Given the description of an element on the screen output the (x, y) to click on. 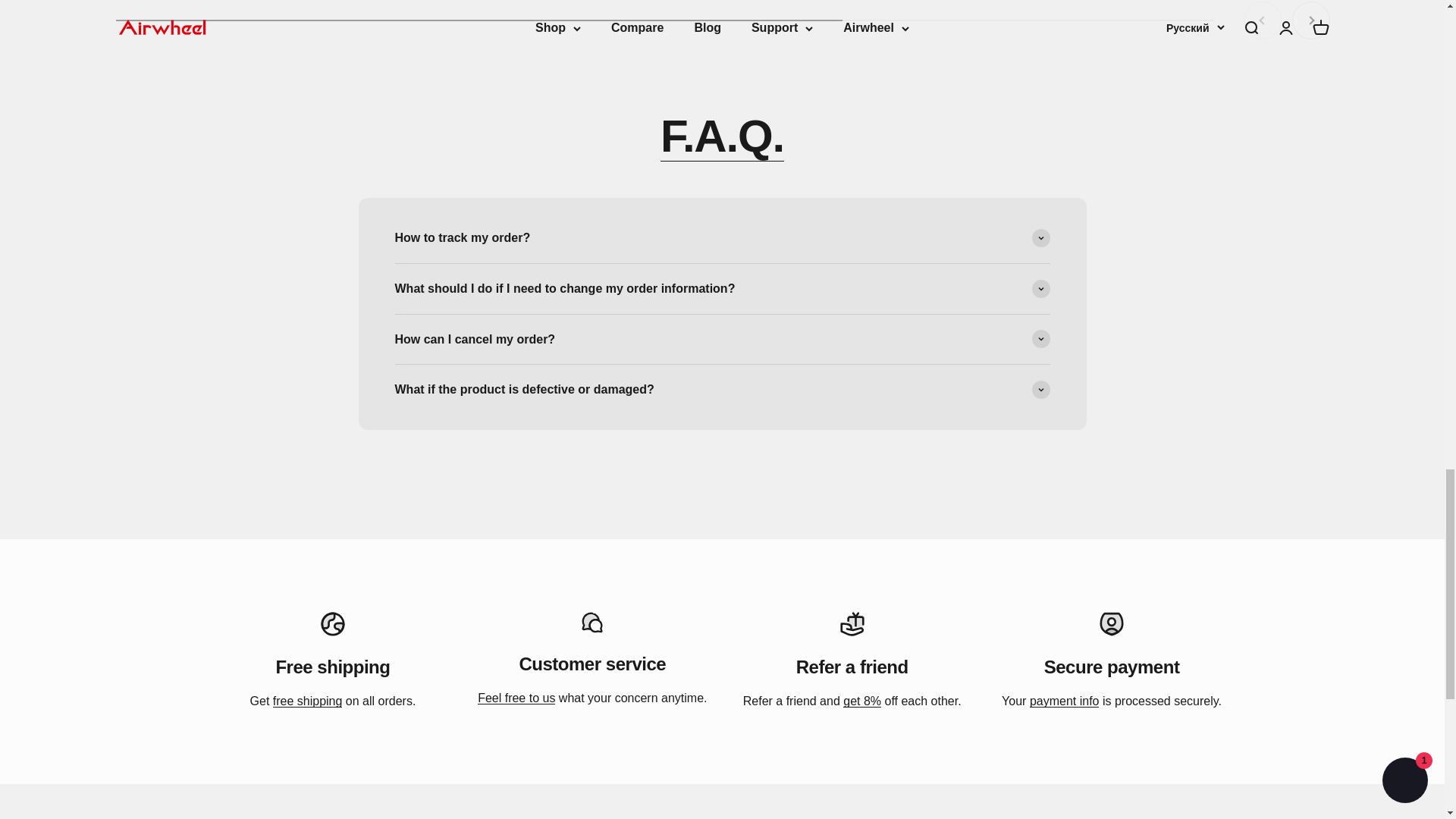
Contact Us (515, 697)
Payment Methods (1064, 700)
Shipping Policy (307, 700)
F.A.Q. (722, 135)
Become an Affiliate (861, 700)
